Given the description of an element on the screen output the (x, y) to click on. 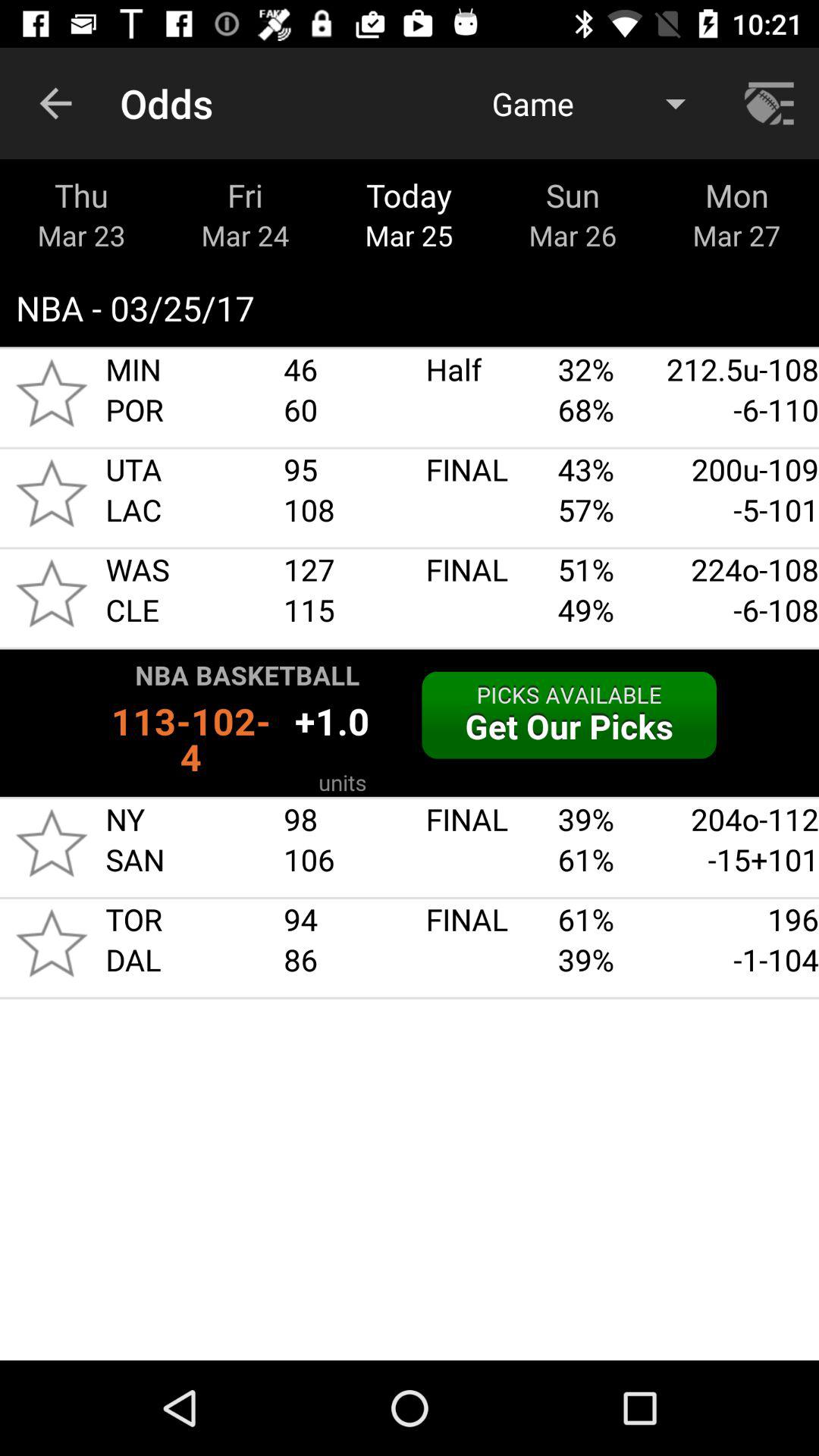
was cle star icon (51, 593)
